Given the description of an element on the screen output the (x, y) to click on. 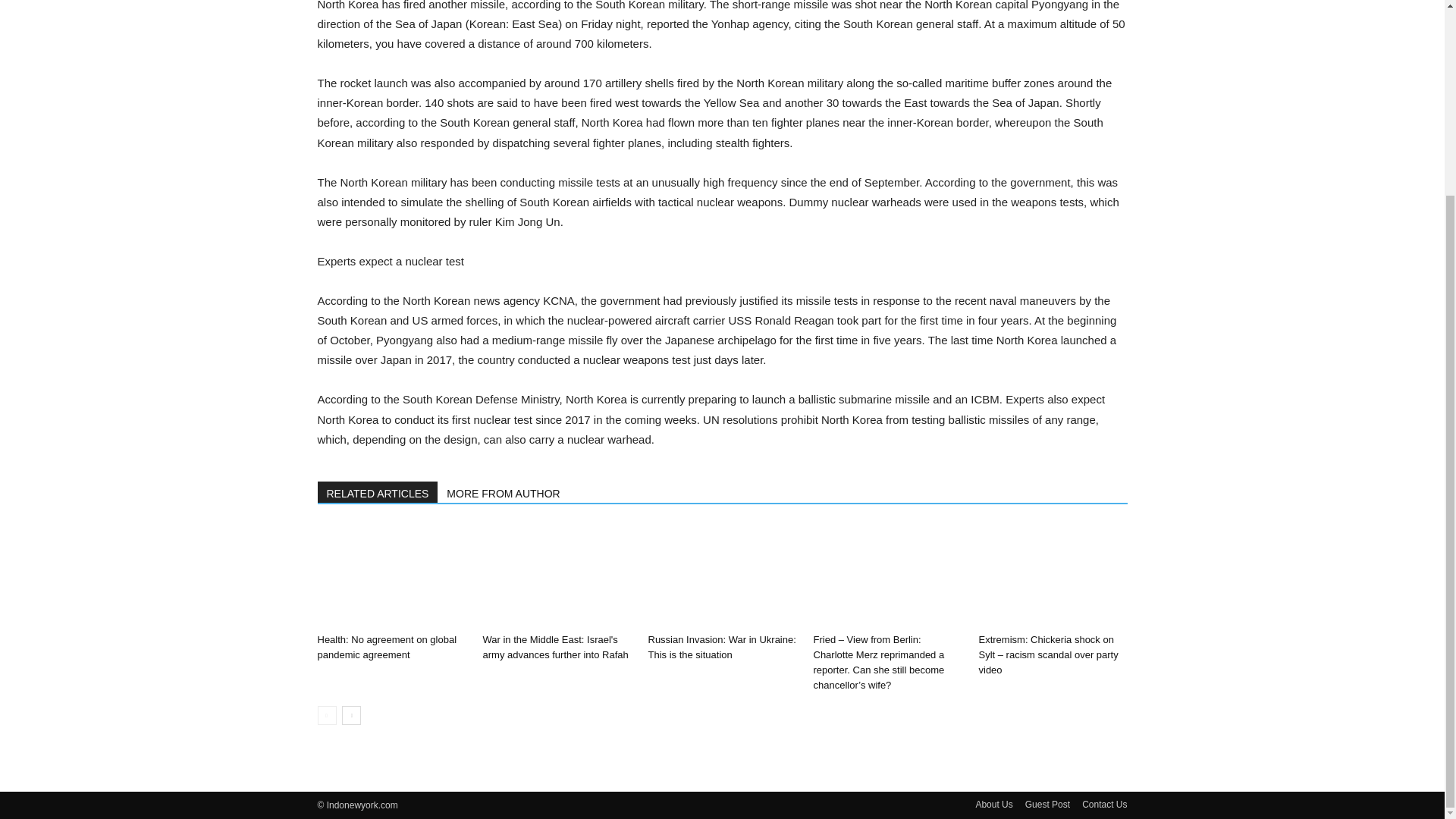
Russian Invasion: War in Ukraine: This is the situation (720, 646)
Russian Invasion: War in Ukraine: This is the situation (720, 646)
Health: No agreement on global pandemic agreement (387, 646)
RELATED ARTICLES (377, 491)
Health: No agreement on global pandemic agreement (391, 575)
Health: No agreement on global pandemic agreement (387, 646)
MORE FROM AUTHOR (503, 491)
Russian Invasion: War in Ukraine: This is the situation (721, 575)
